Given the description of an element on the screen output the (x, y) to click on. 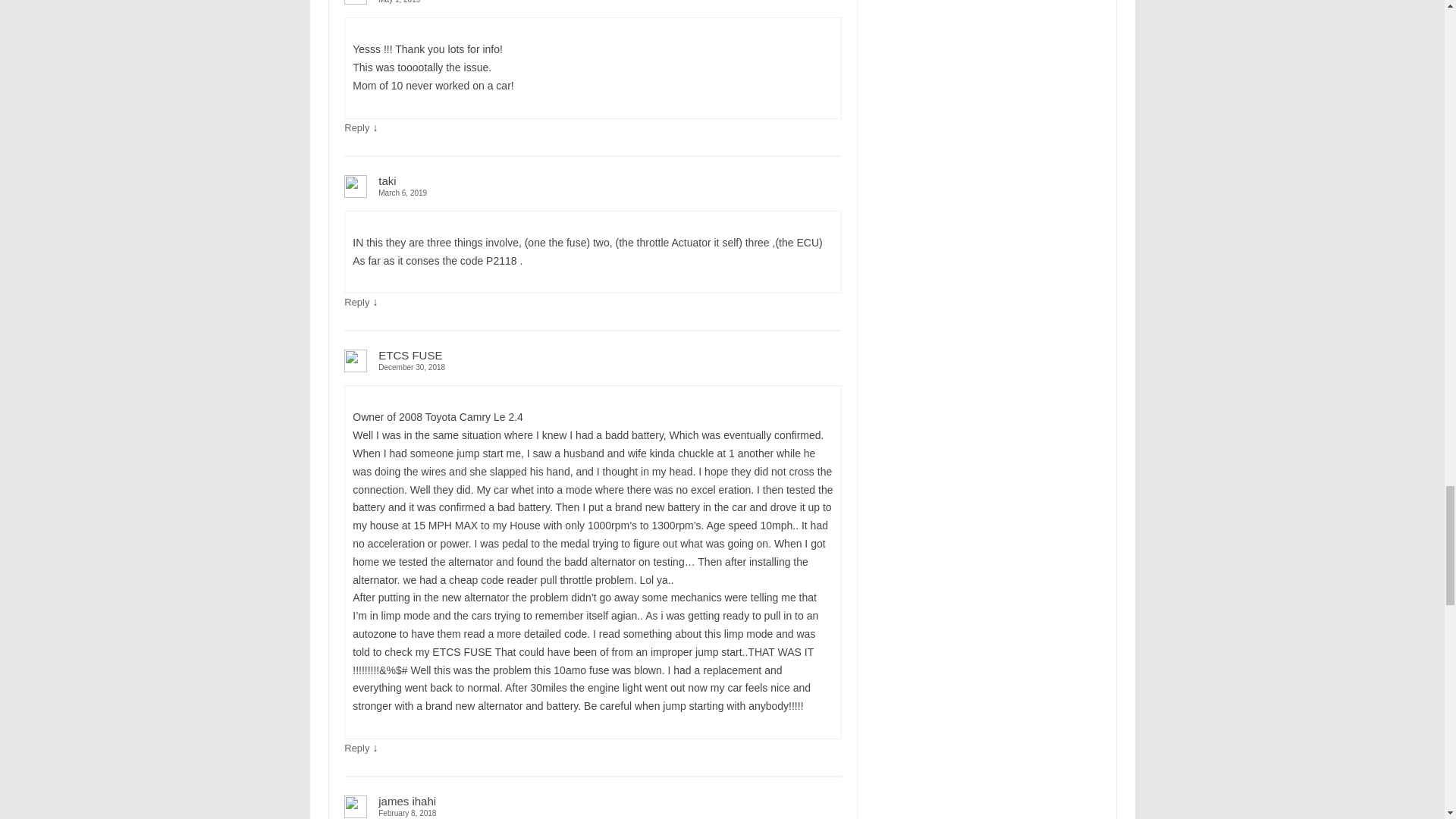
Reply (356, 301)
Reply (356, 747)
Reply (356, 127)
February 8, 2018 (592, 812)
December 30, 2018 (592, 367)
March 6, 2019 (592, 192)
May 1, 2019 (592, 2)
